Given the description of an element on the screen output the (x, y) to click on. 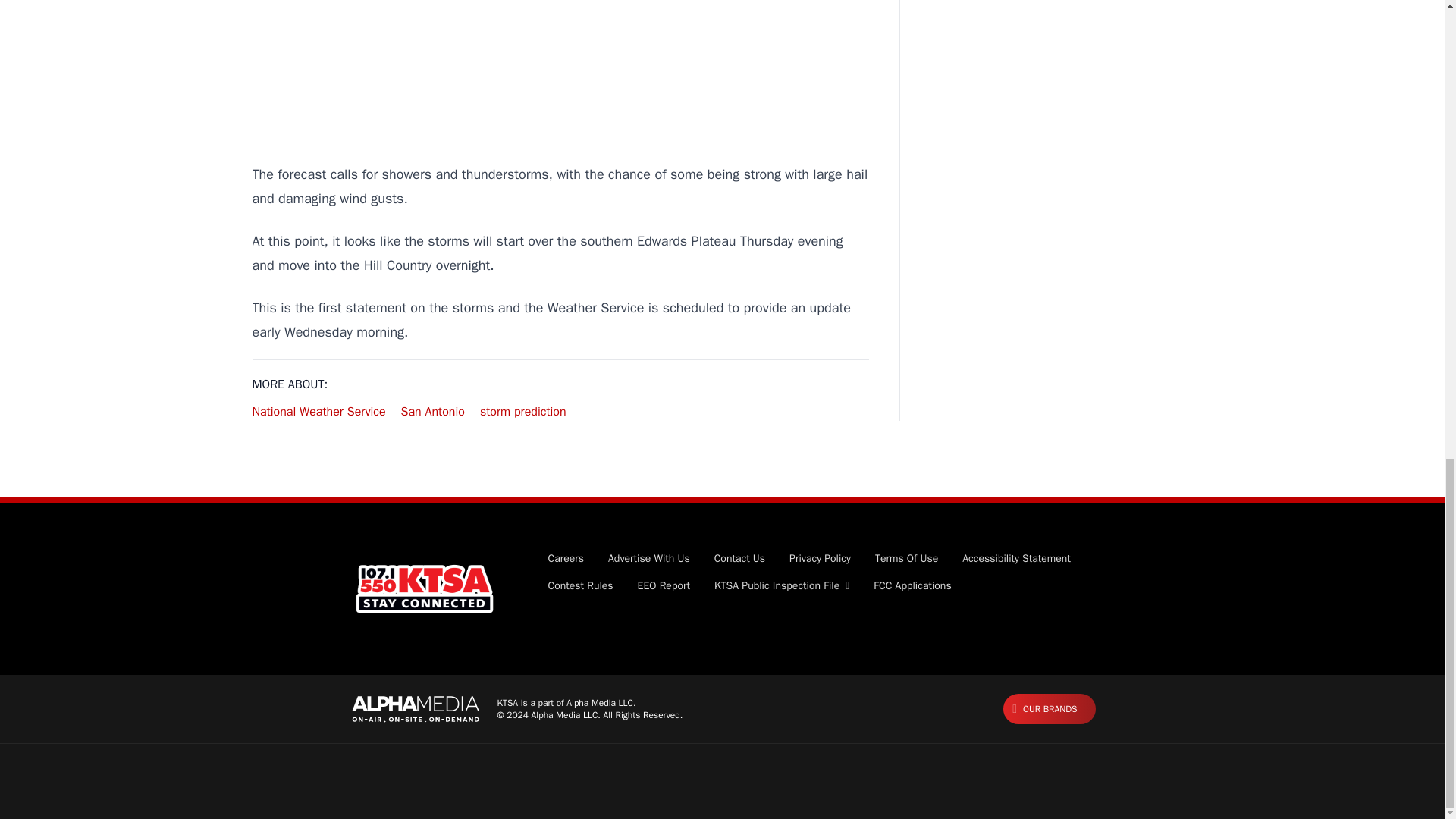
3rd party ad content (560, 65)
